Given the description of an element on the screen output the (x, y) to click on. 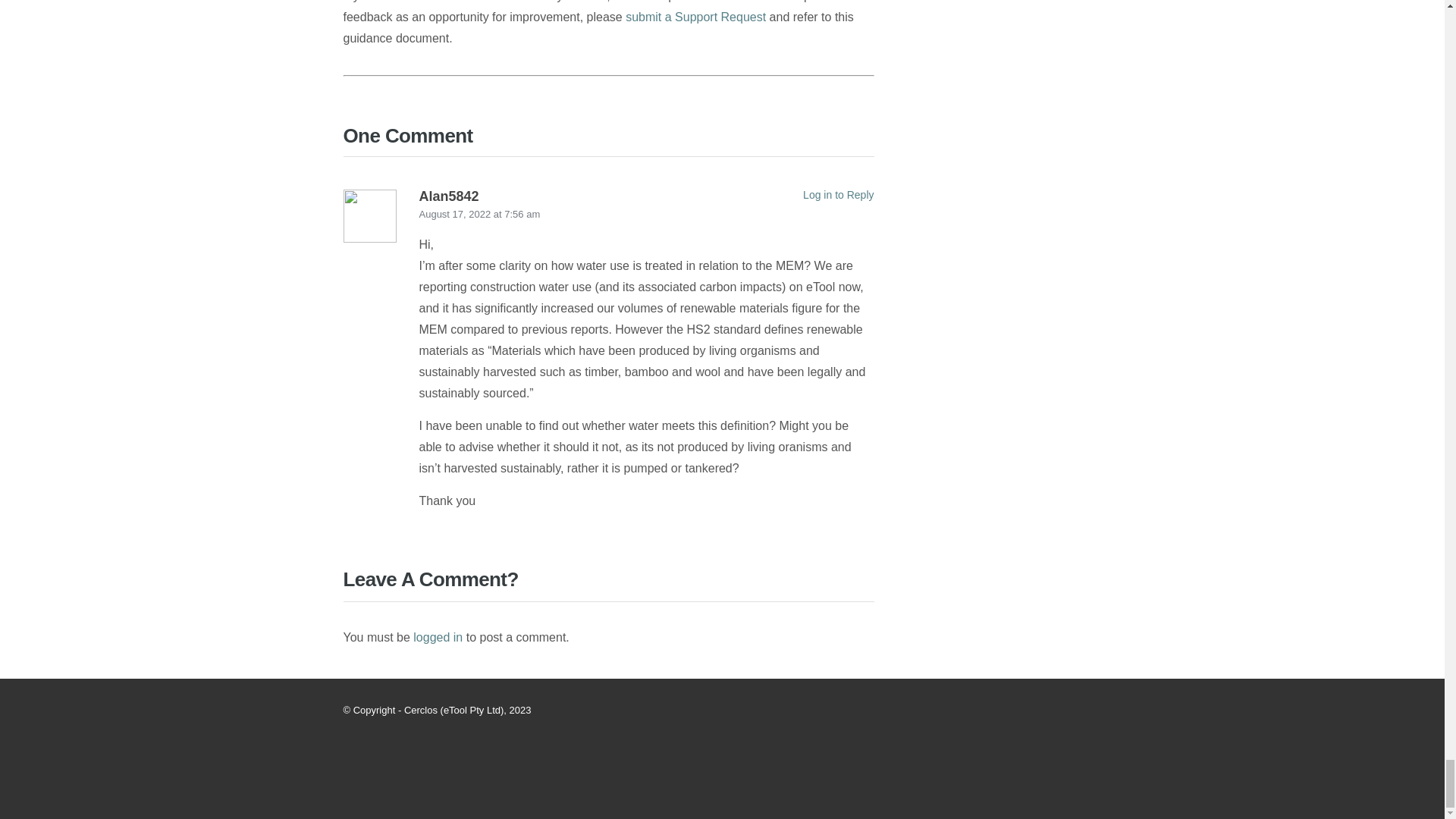
Log in (438, 636)
